Given the description of an element on the screen output the (x, y) to click on. 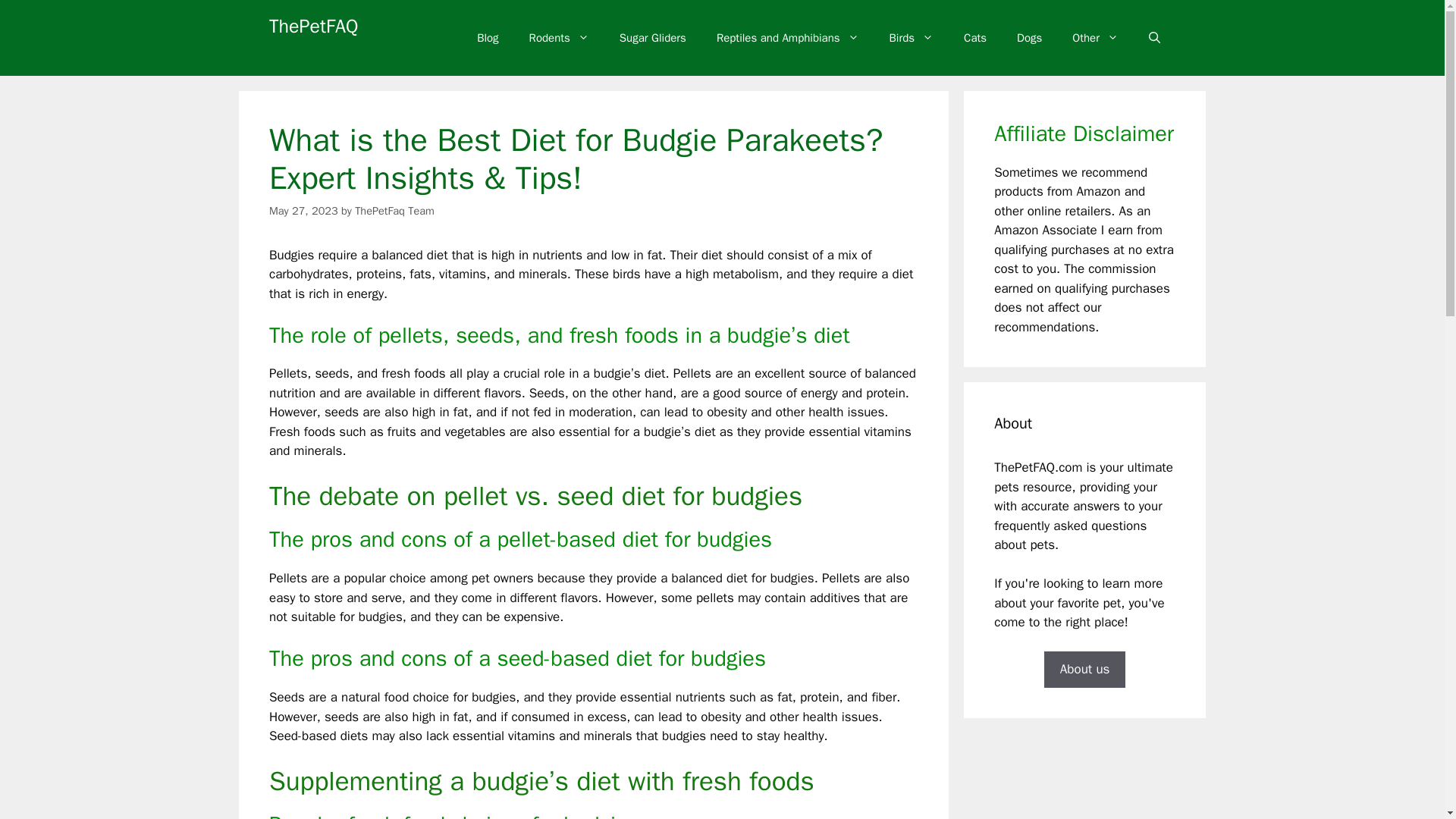
ThePetFaq Team (394, 210)
Cats (975, 37)
View all posts by ThePetFaq Team (394, 210)
Rodents (558, 37)
Reptiles and Amphibians (788, 37)
Birds (912, 37)
ThePetFAQ (313, 25)
Sugar Gliders (652, 37)
Other (1095, 37)
Dogs (1029, 37)
Blog (487, 37)
